Given the description of an element on the screen output the (x, y) to click on. 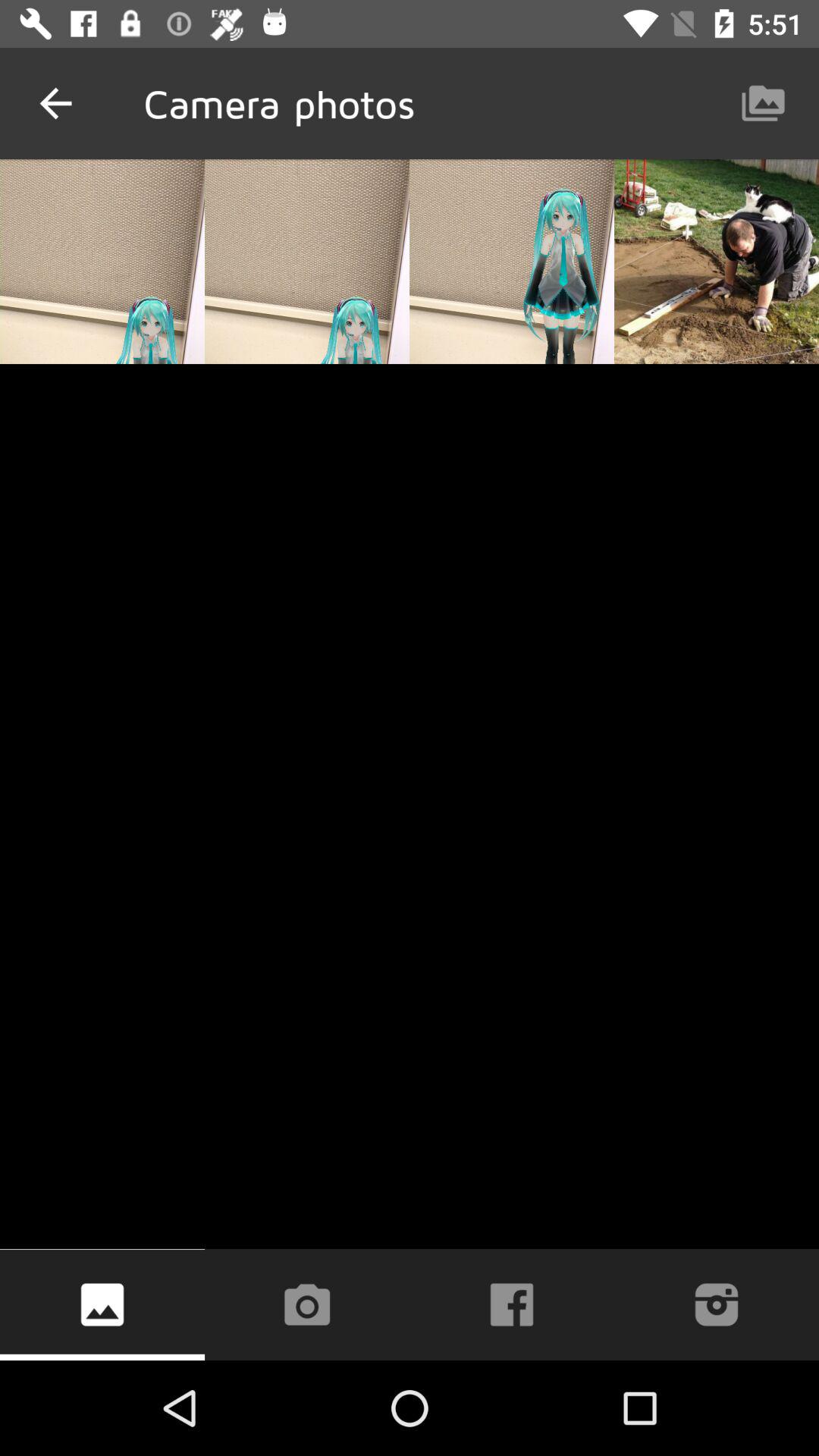
press the icon at the bottom left corner (102, 1304)
